Given the description of an element on the screen output the (x, y) to click on. 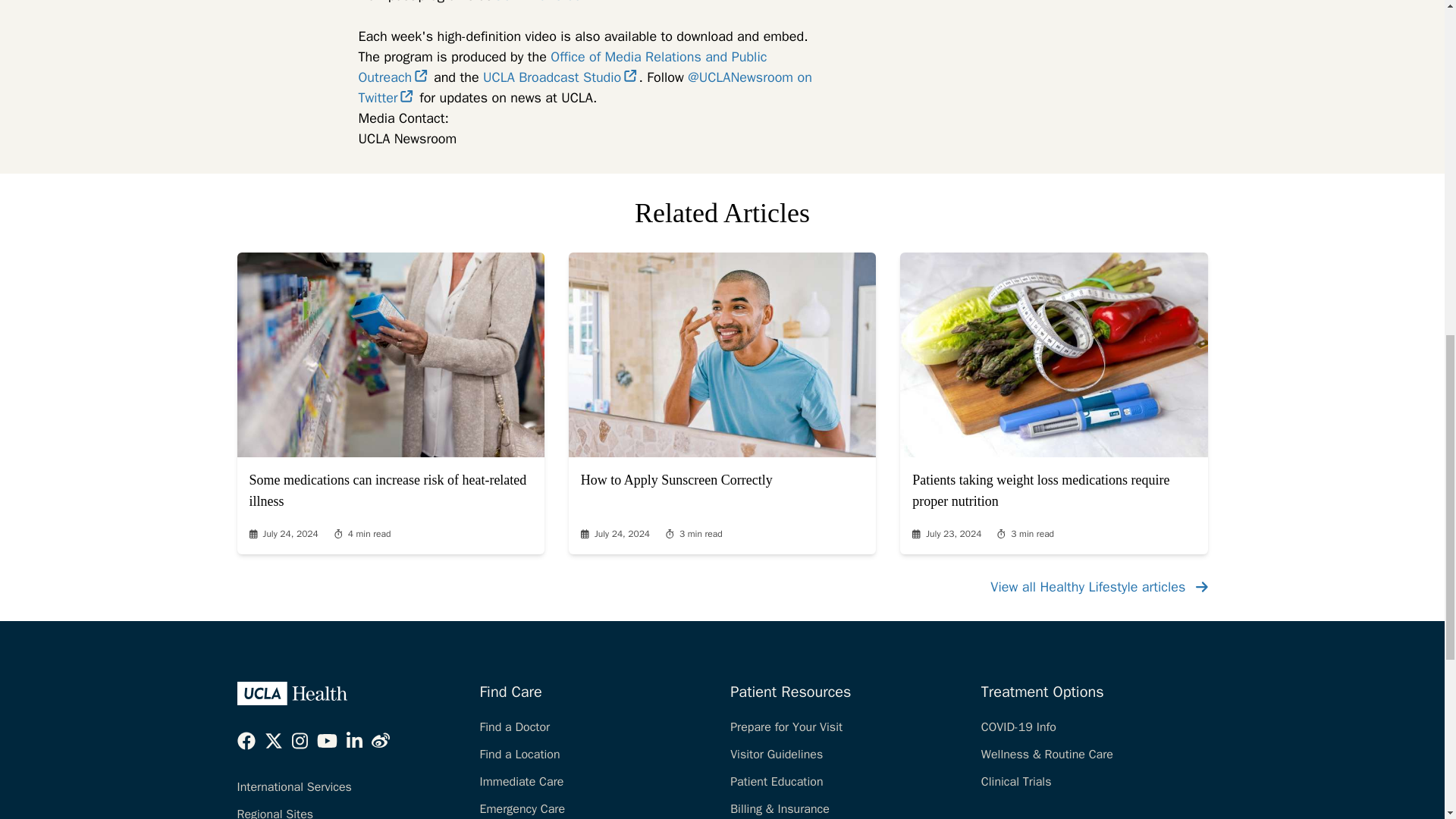
Link is external (630, 75)
Link is external (406, 96)
Link is external (420, 75)
